Given the description of an element on the screen output the (x, y) to click on. 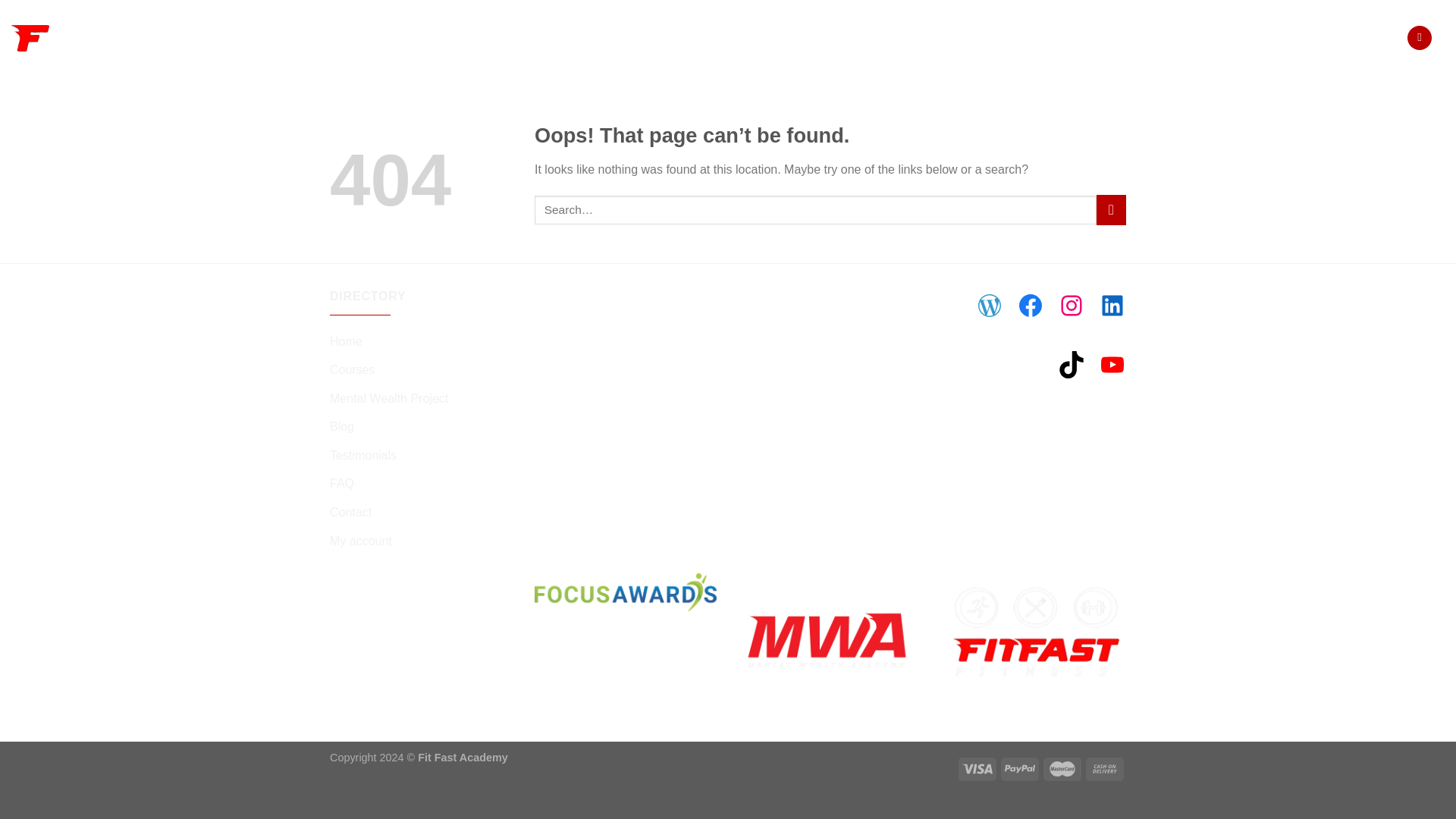
MENTAL WEALTH PROJECT (947, 37)
Mental Wealth Project (389, 398)
Home (346, 341)
My account (360, 541)
MY ACCOUNT (1346, 37)
Testimonials (363, 455)
Courses (352, 369)
Fit Fast Academy (30, 37)
COURSES (830, 37)
CONTACT (1263, 37)
